Given the description of an element on the screen output the (x, y) to click on. 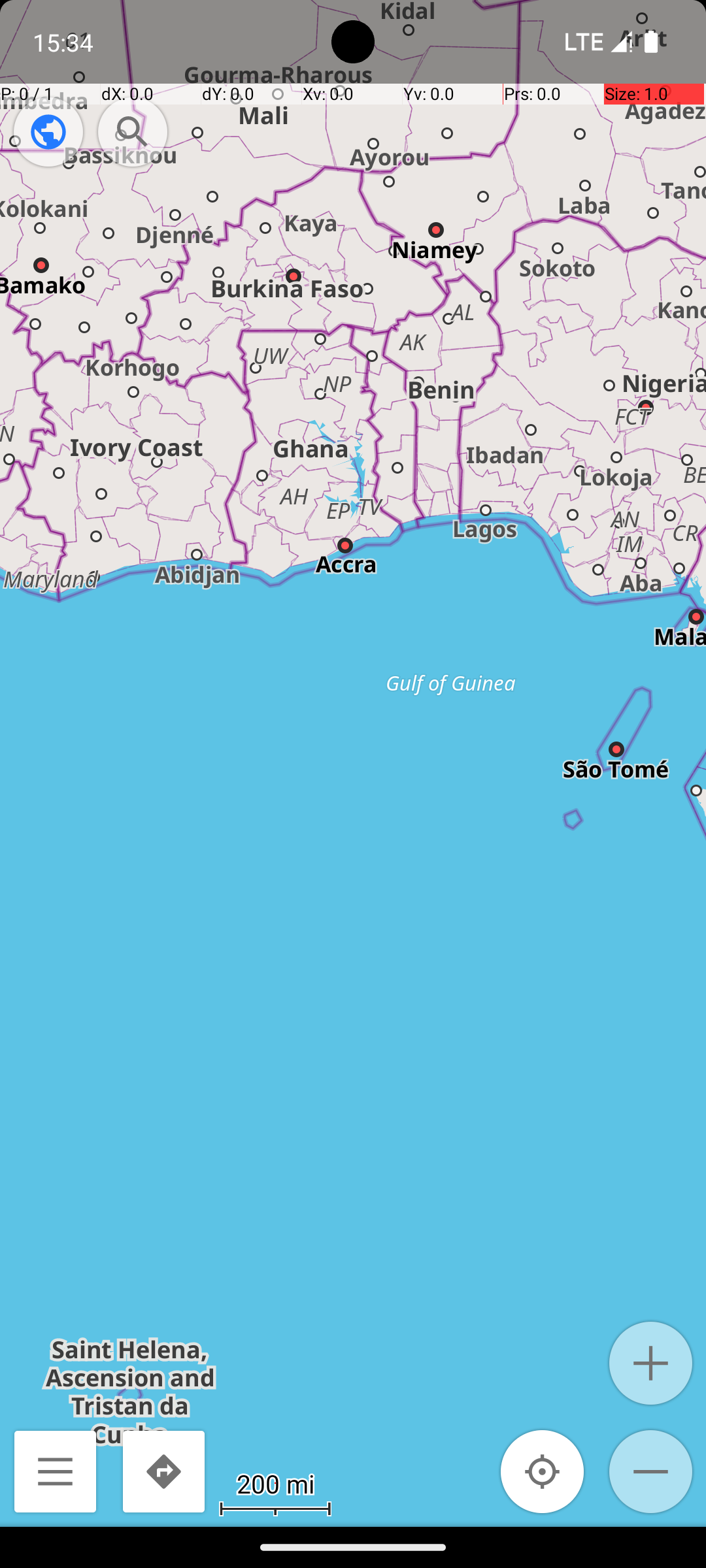
Configure map Element type: android.widget.ImageButton (48, 131)
Back to menu Element type: android.widget.ImageButton (55, 1471)
Route Element type: android.widget.ImageButton (163, 1471)
200 mi Element type: android.widget.TextView (274, 1483)
Position not yet known. Element type: android.widget.ImageButton (542, 1471)
Zoom in Element type: android.widget.ImageButton (650, 1362)
Zoom out Element type: android.widget.ImageButton (650, 1471)
